Given the description of an element on the screen output the (x, y) to click on. 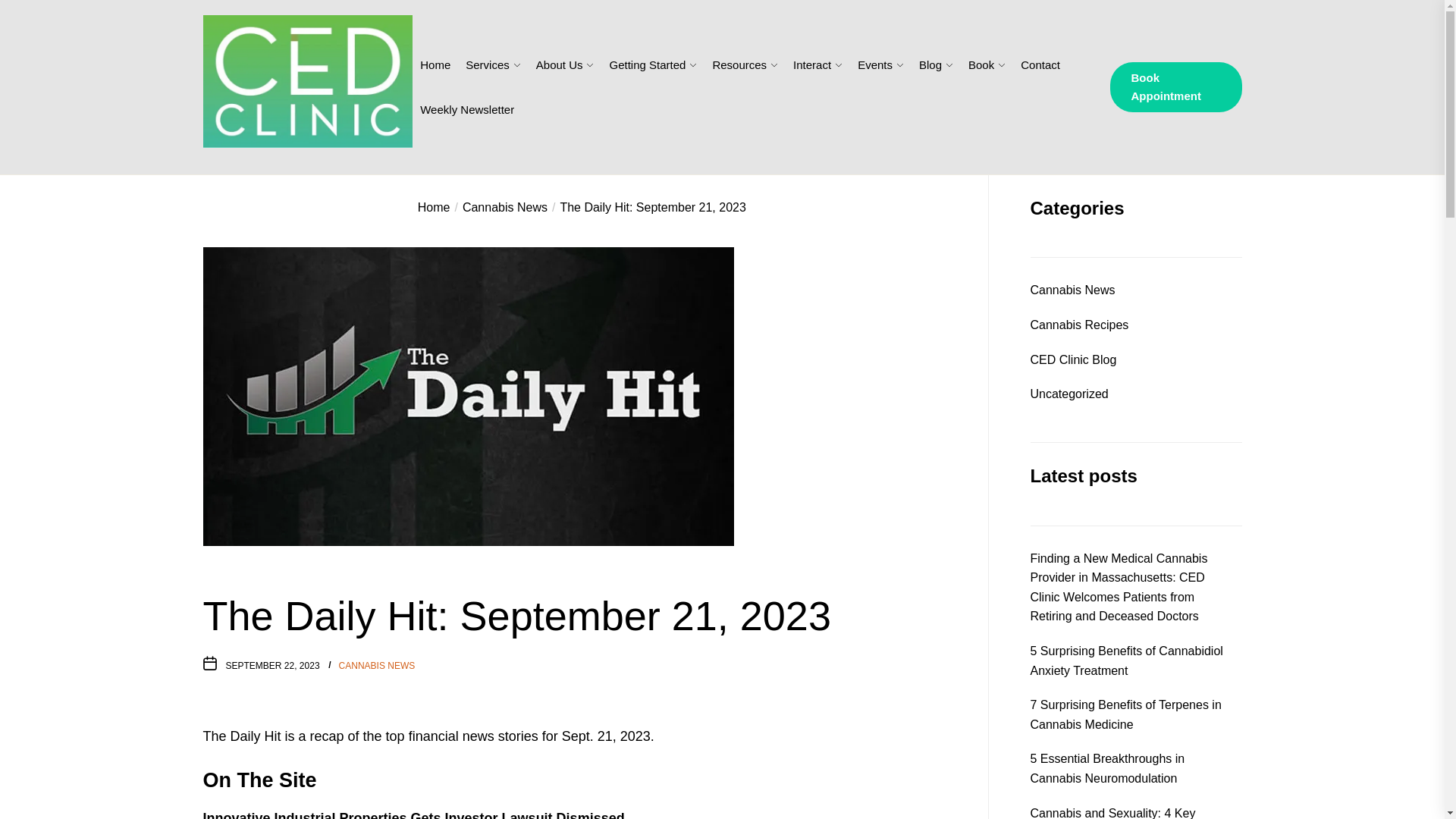
Events (874, 64)
Resources (739, 64)
Interact (812, 64)
Home (434, 64)
Getting Started (646, 64)
Services (487, 64)
CED Clinic (260, 172)
About Us (559, 64)
